Given the description of an element on the screen output the (x, y) to click on. 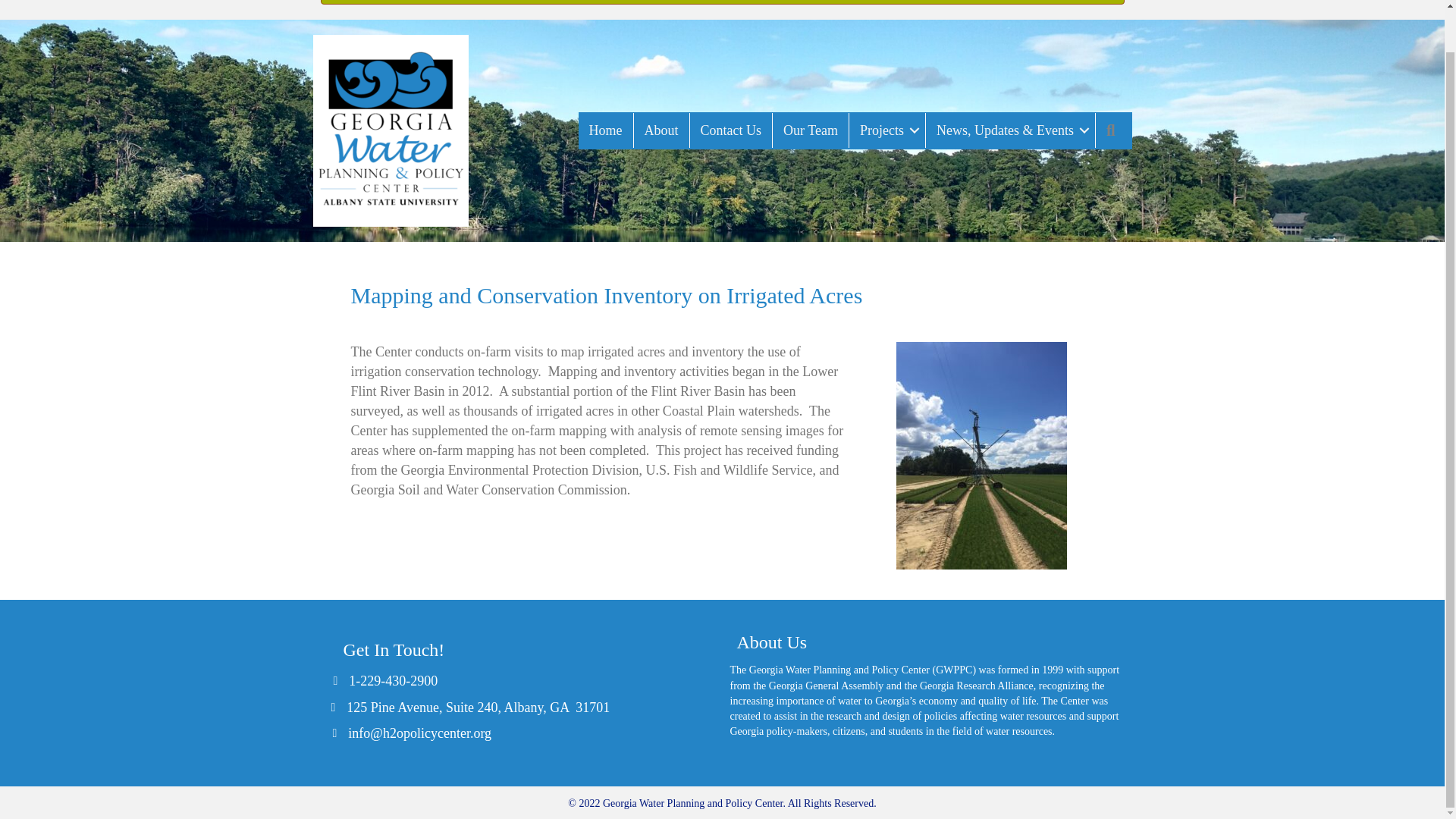
1-229-430-2900 (393, 680)
125 Pine Avenue, Suite 240, Albany, GA  31701 (478, 707)
Contact Us (731, 130)
Projects (886, 130)
Search (1114, 130)
Our Team (810, 130)
Home (605, 130)
About (660, 130)
